Given the description of an element on the screen output the (x, y) to click on. 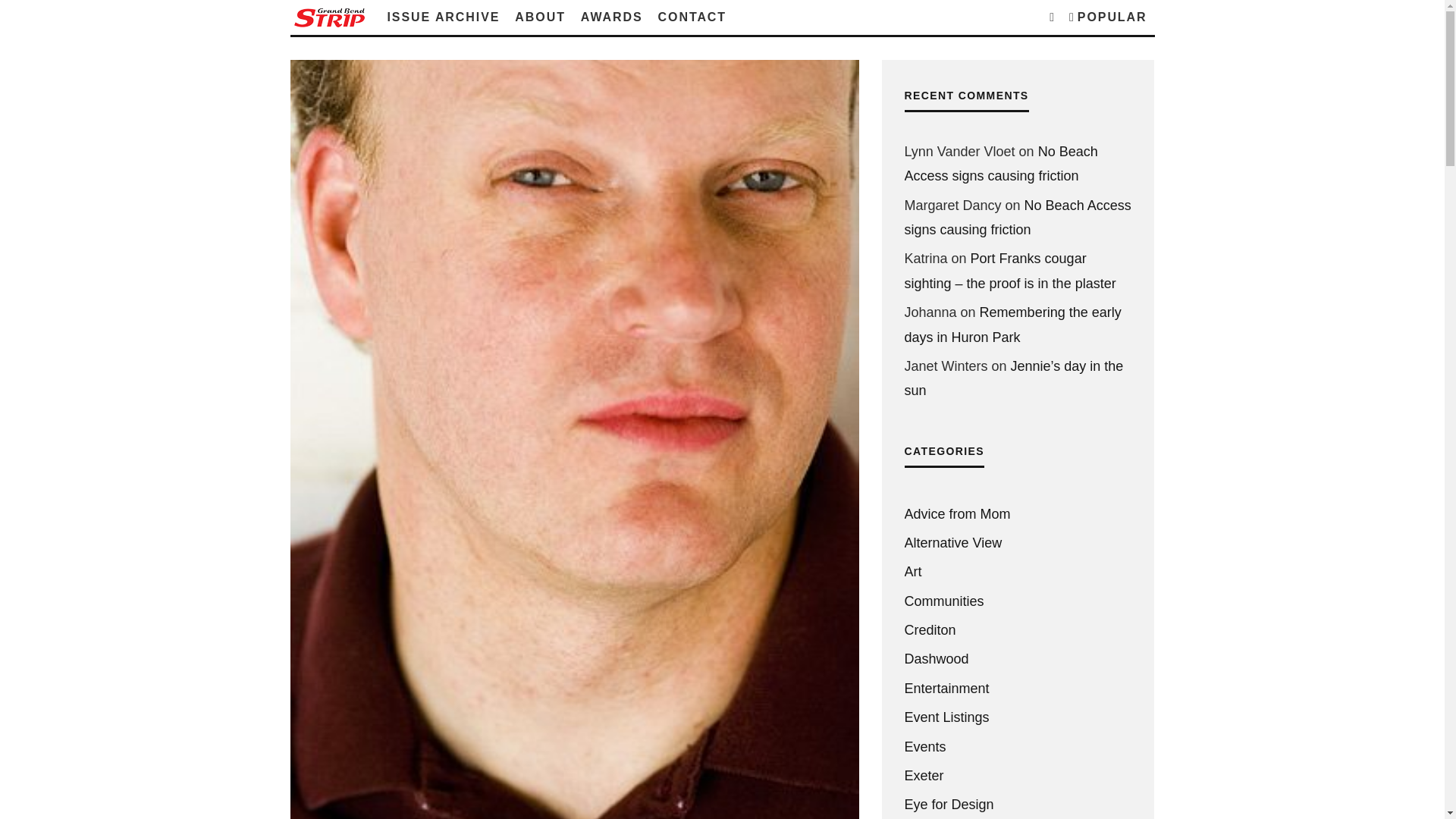
POPULAR (1107, 17)
AWARDS (611, 17)
ISSUE ARCHIVE (442, 17)
ABOUT (539, 17)
CONTACT (691, 17)
